Given the description of an element on the screen output the (x, y) to click on. 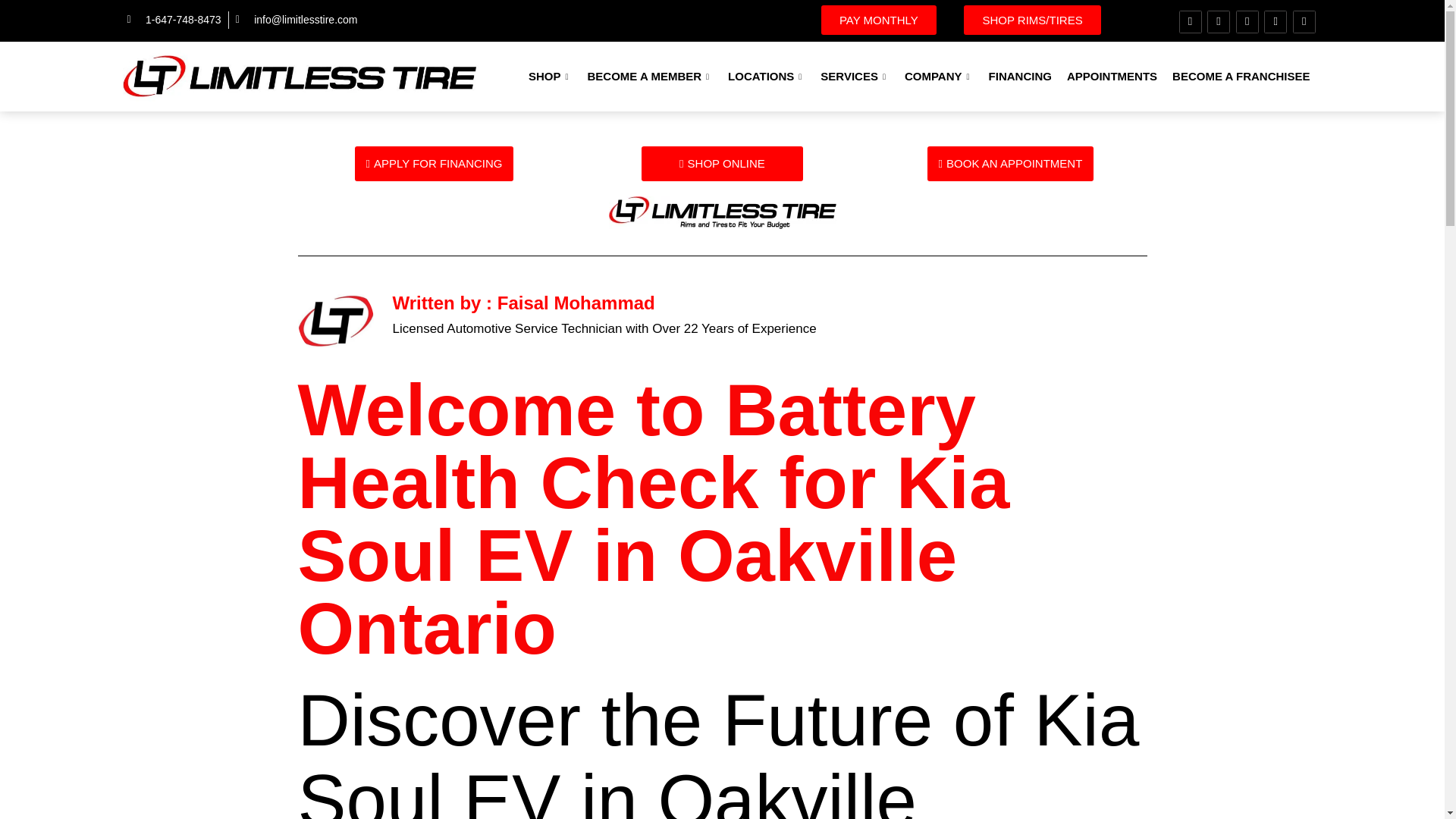
SHOP (550, 76)
BECOME A MEMBER (649, 76)
PAY MONTHLY (878, 19)
1-647-748-8473 (174, 20)
SERVICES (854, 76)
LOCATIONS (766, 76)
